Given the description of an element on the screen output the (x, y) to click on. 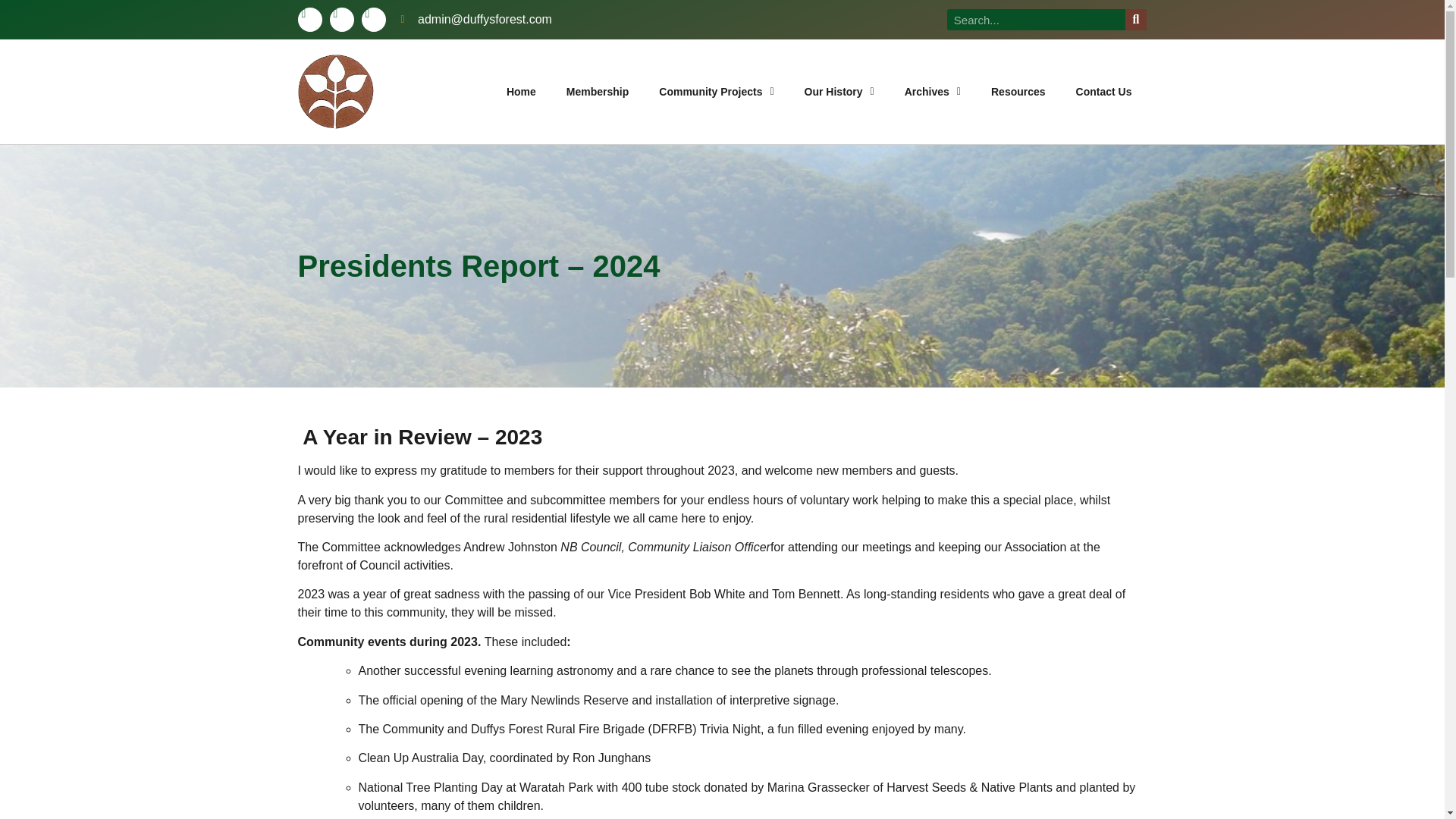
Home (521, 91)
Contact Us (1104, 91)
Our History (839, 91)
Membership (597, 91)
Resources (1018, 91)
Archives (932, 91)
Community Projects (716, 91)
